Given the description of an element on the screen output the (x, y) to click on. 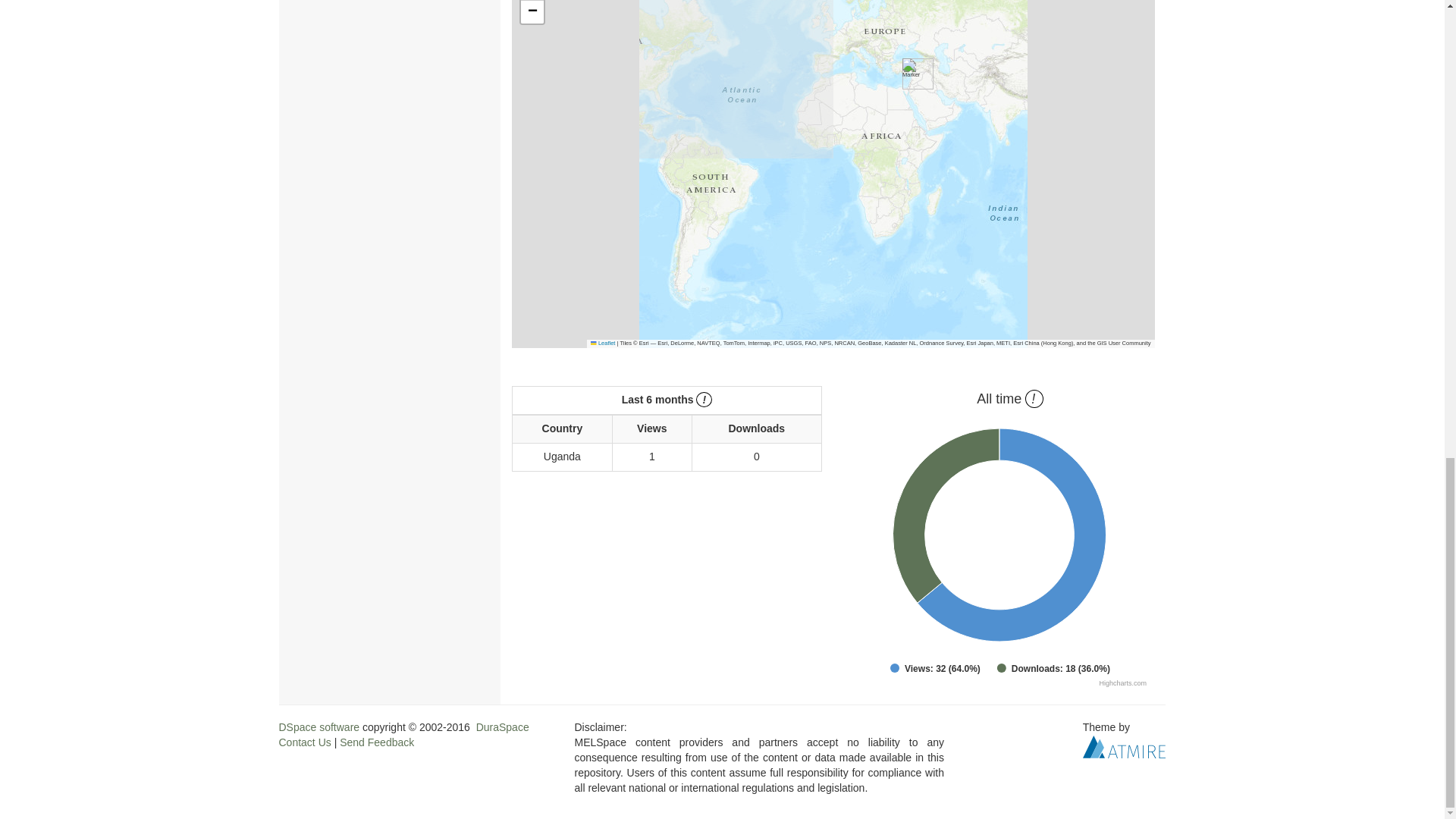
Zoom out (532, 11)
A JavaScript library for interactive maps (602, 342)
Atmire NV (1124, 745)
